Given the description of an element on the screen output the (x, y) to click on. 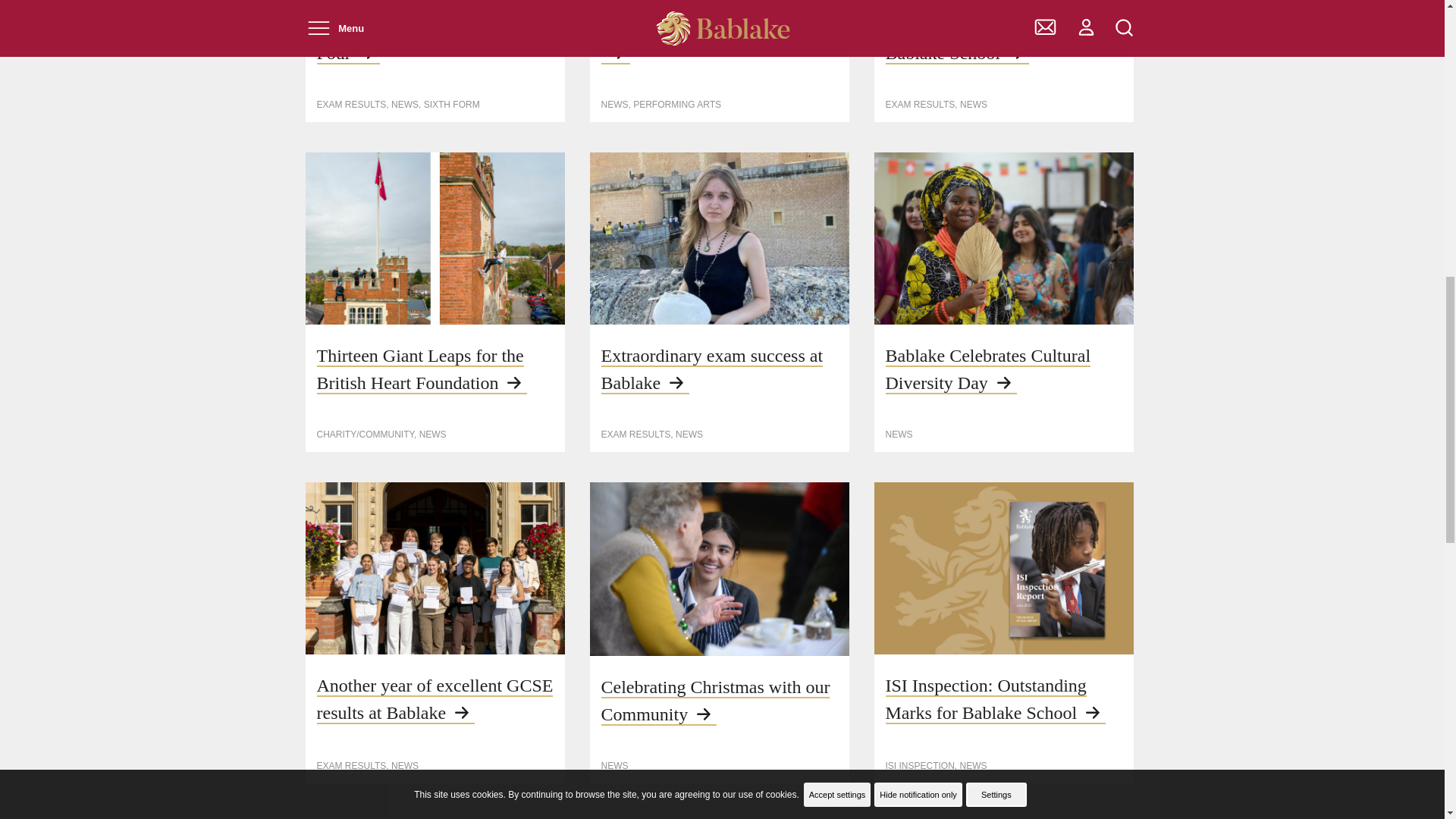
Congratulations to our Fabulous Four (434, 39)
